Given the description of an element on the screen output the (x, y) to click on. 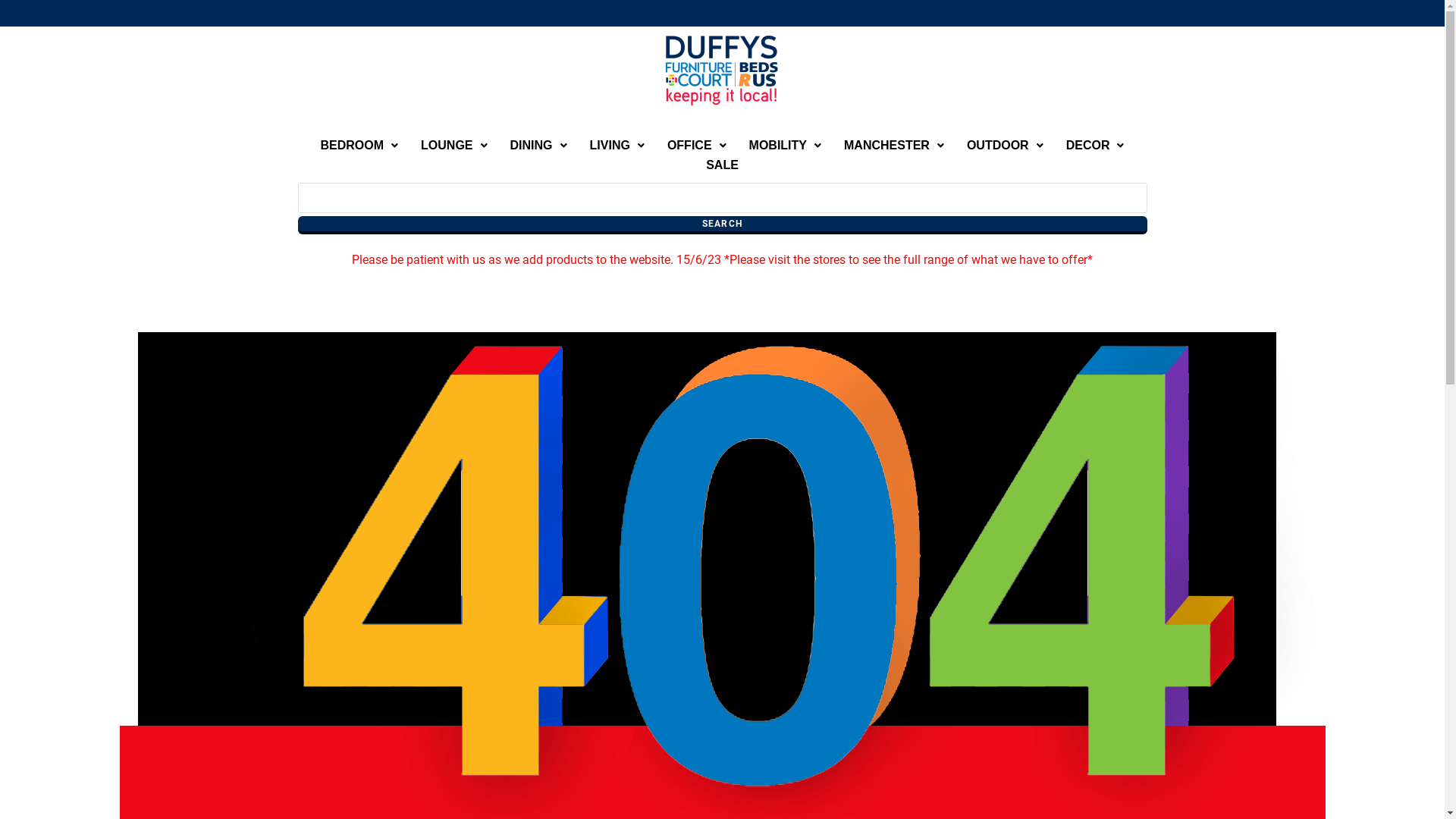
MOBILITY Element type: text (784, 145)
BEDROOM Element type: text (359, 145)
OFFICE Element type: text (696, 145)
DECOR Element type: text (1094, 145)
OUTDOOR Element type: text (1004, 145)
LOUNGE Element type: text (453, 145)
SALE Element type: text (721, 165)
Search Element type: text (721, 225)
MANCHESTER Element type: text (893, 145)
DINING Element type: text (538, 145)
LIVING Element type: text (616, 145)
